Given the description of an element on the screen output the (x, y) to click on. 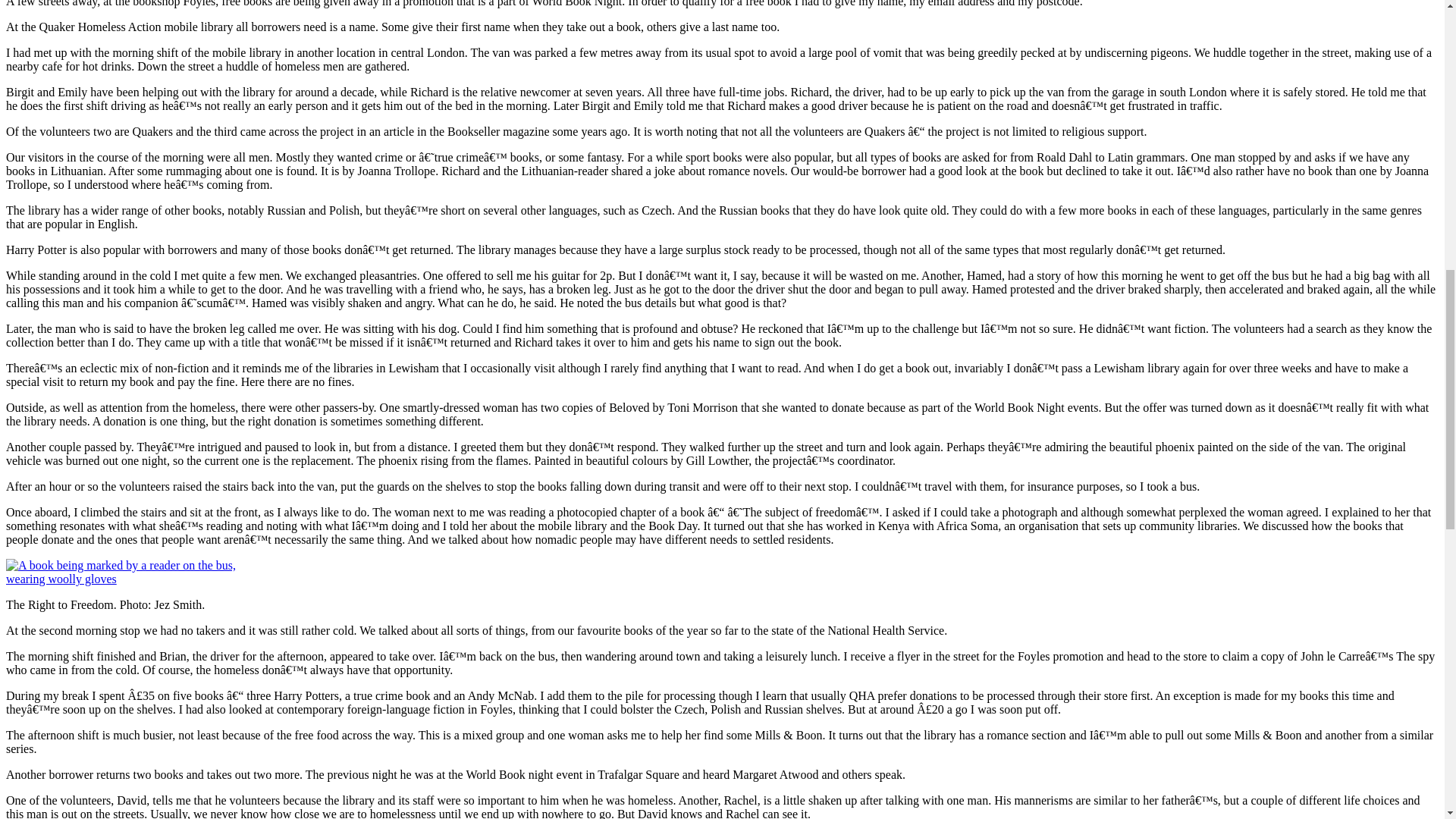
The Right to Freedom (121, 572)
